Given the description of an element on the screen output the (x, y) to click on. 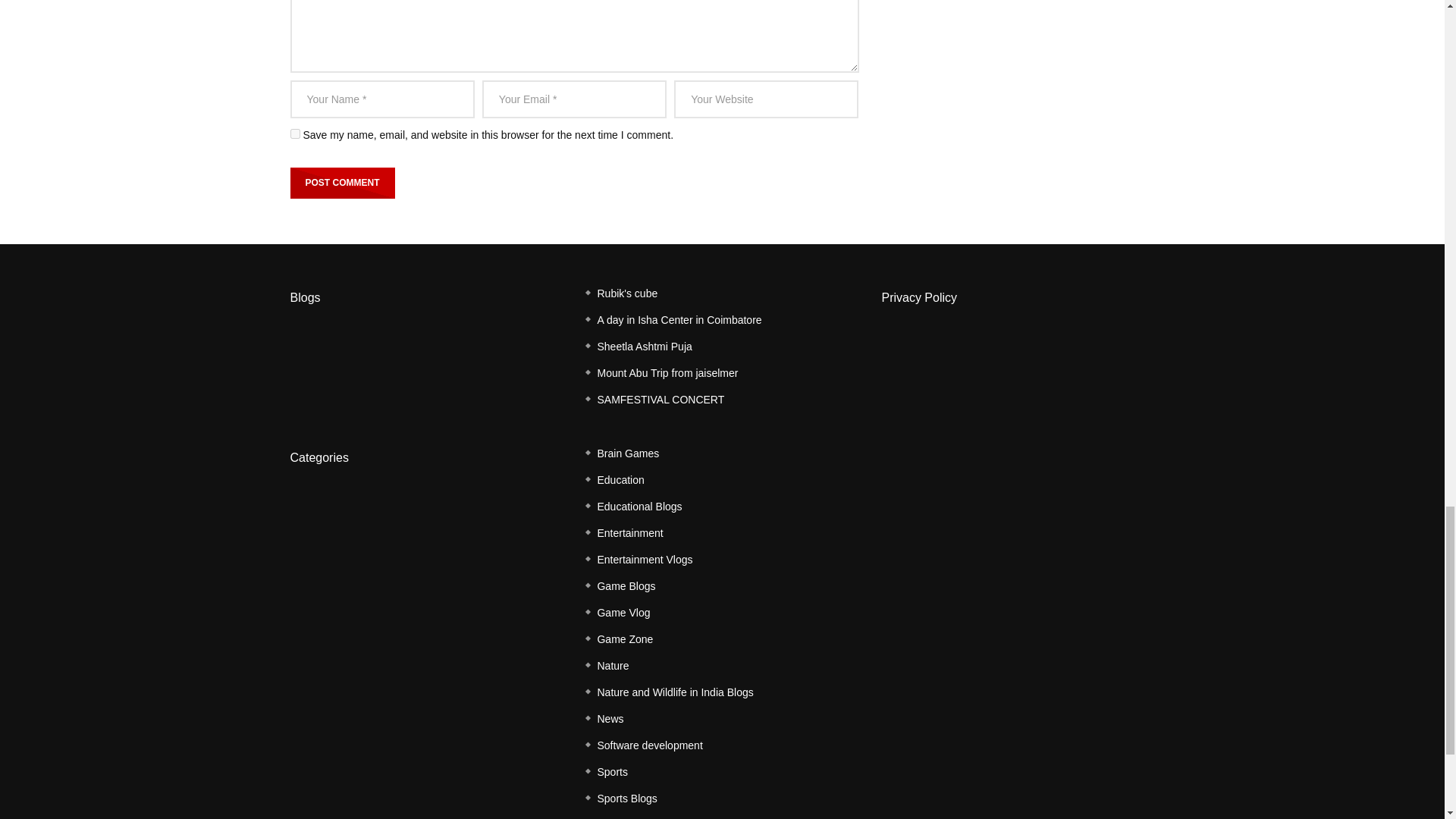
Post comment (341, 182)
yes (294, 133)
